Given the description of an element on the screen output the (x, y) to click on. 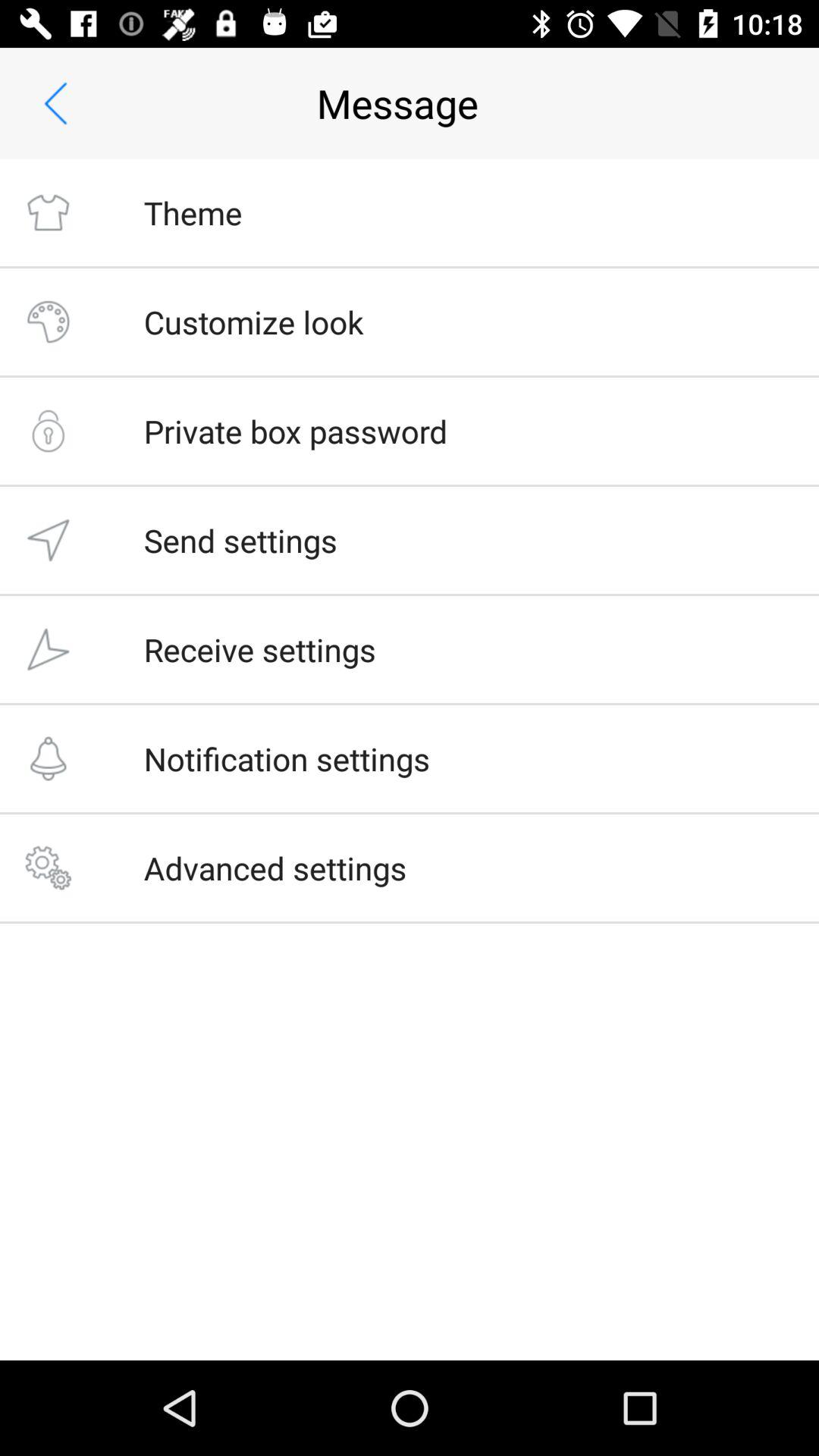
swipe until the send settings icon (240, 539)
